Given the description of an element on the screen output the (x, y) to click on. 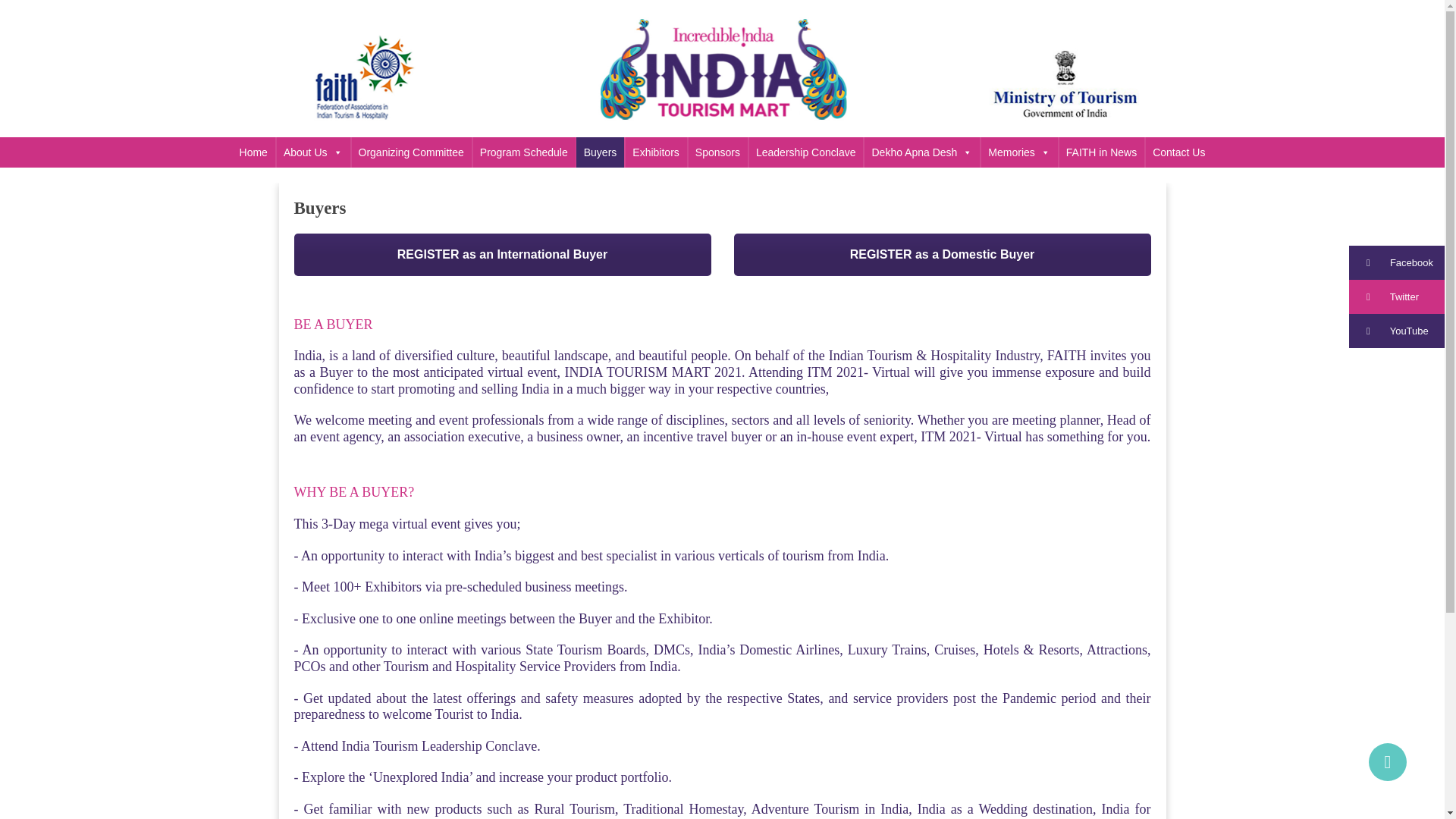
Program Schedule (523, 151)
Dekho Apna Desh (921, 151)
Organizing Committee (410, 151)
Domestic Buyer Form (942, 254)
Sponsors (717, 151)
About Us (313, 151)
Leadership Conclave (805, 151)
International Buyer Form (502, 254)
REGISTER as an International Buyer (502, 254)
Buyers (600, 151)
